Given the description of an element on the screen output the (x, y) to click on. 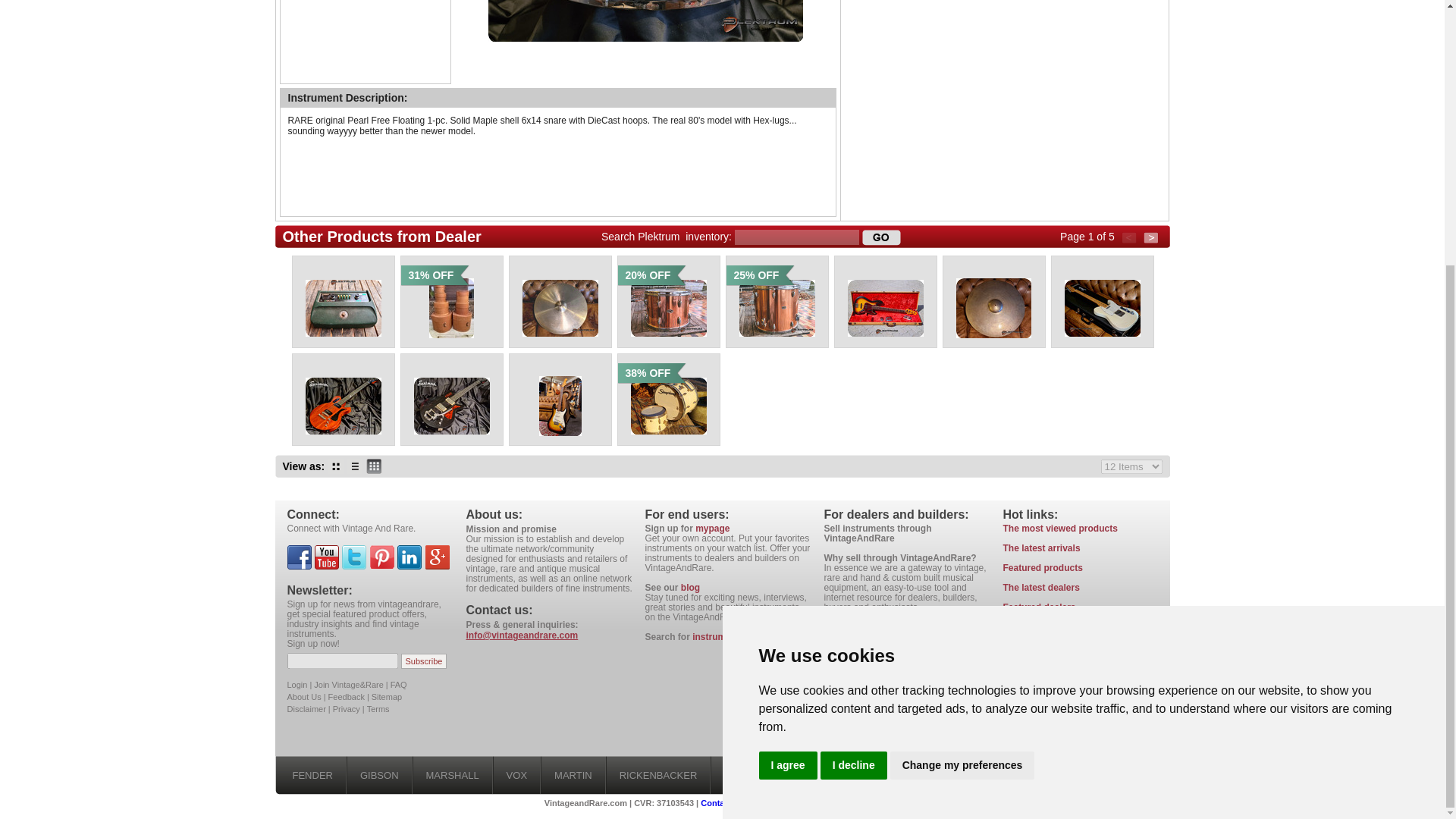
I agree (787, 380)
Pearl-Free Floating Solid Shell-1990 (645, 20)
Instrument Description: (347, 97)
Change my preferences (962, 380)
Subscribe (423, 660)
I decline (853, 380)
Search item in the inventory (881, 237)
